Given the description of an element on the screen output the (x, y) to click on. 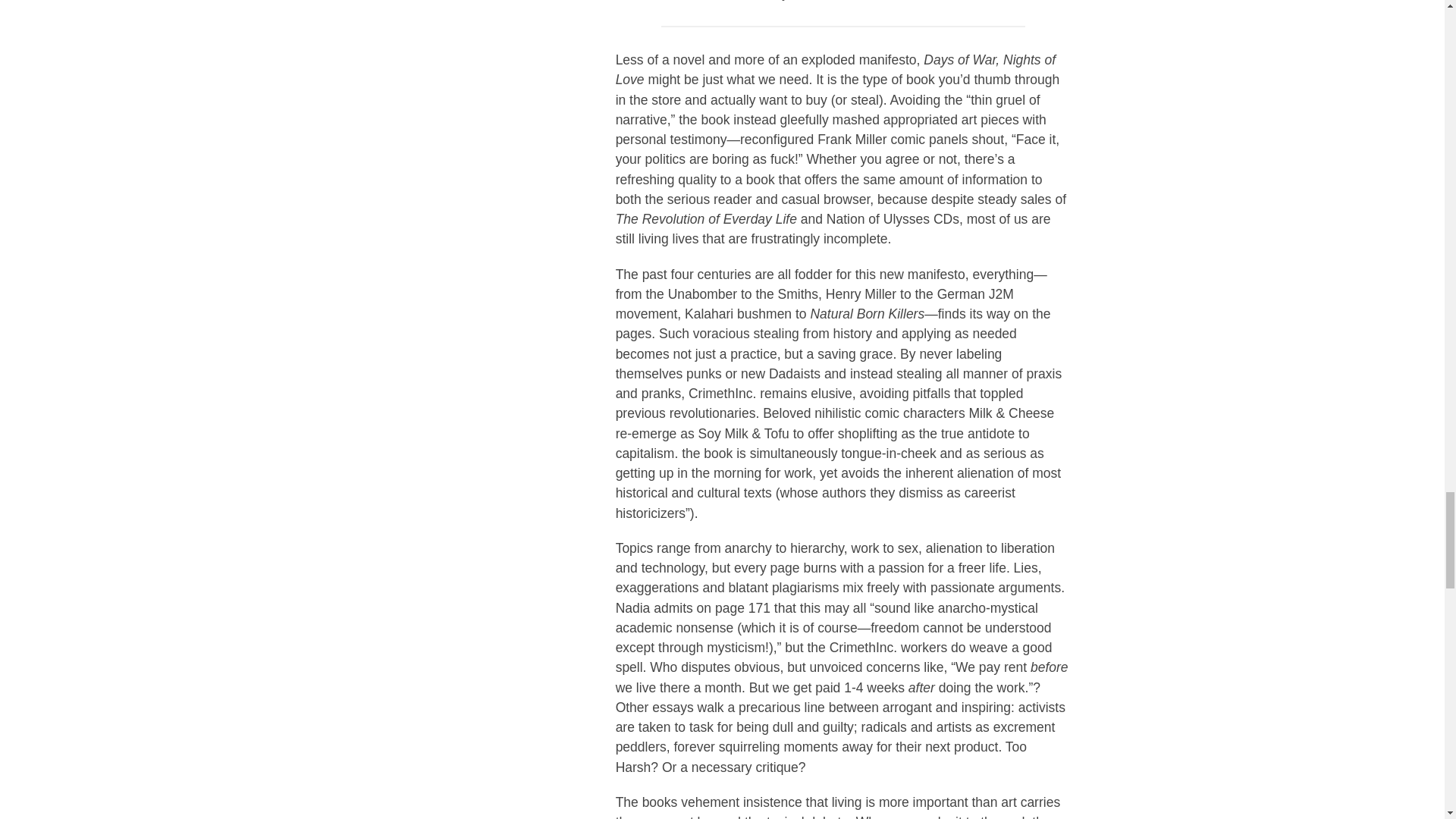
Clamor (654, 0)
